Given the description of an element on the screen output the (x, y) to click on. 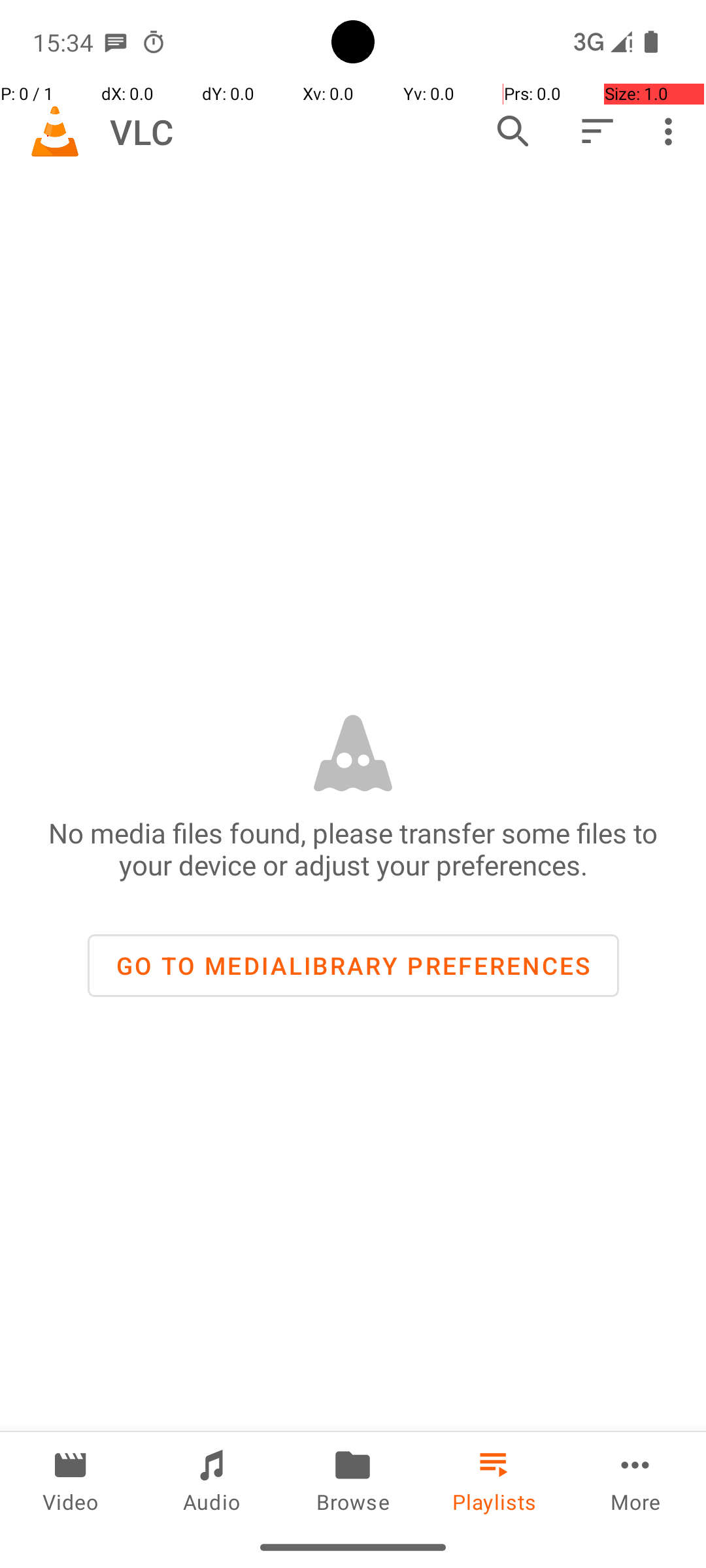
GO TO MEDIALIBRARY PREFERENCES Element type: android.widget.Button (353, 965)
